Given the description of an element on the screen output the (x, y) to click on. 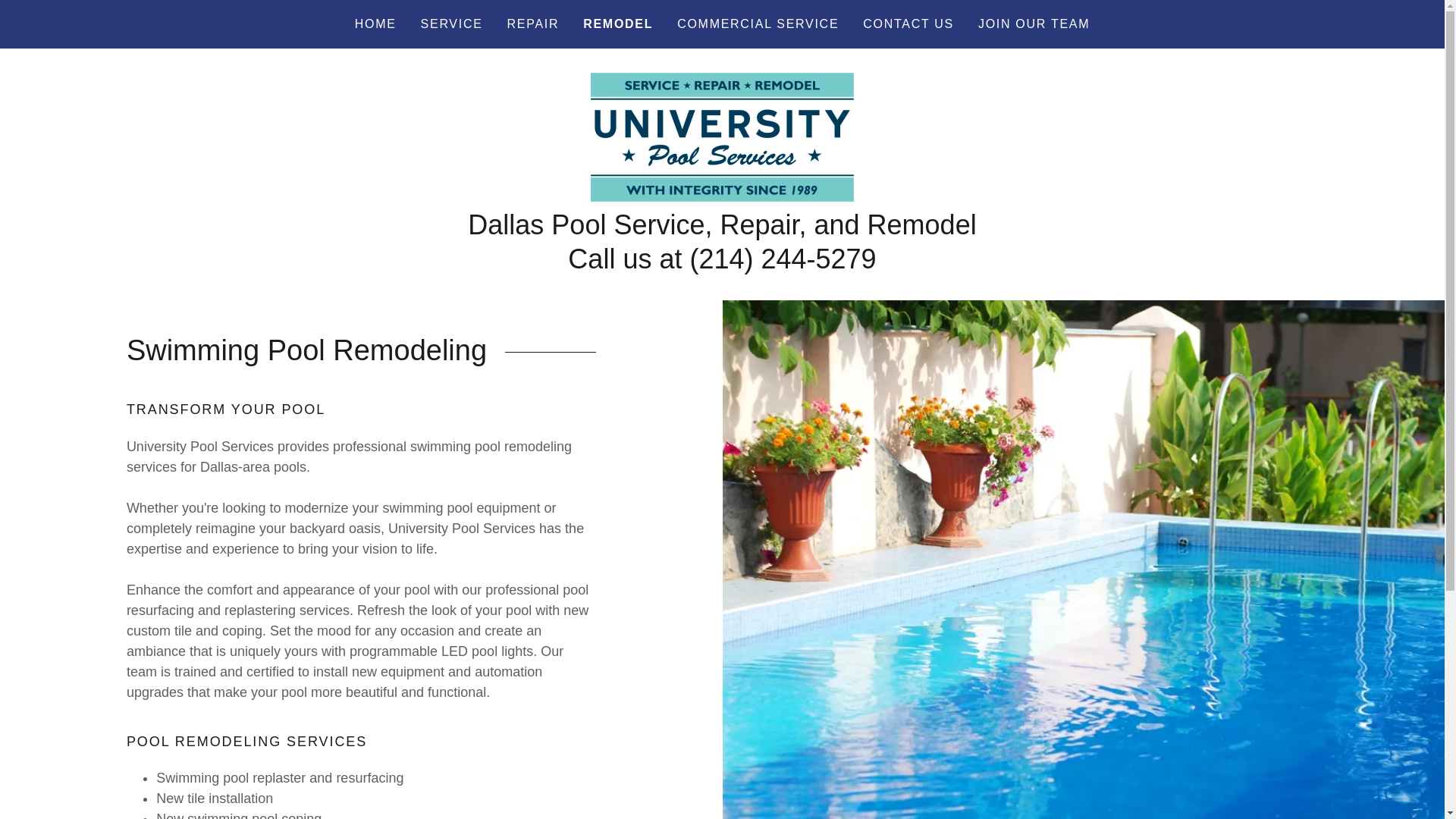
SERVICE (451, 23)
University Pools (722, 136)
REPAIR (533, 23)
HOME (375, 23)
JOIN OUR TEAM (1034, 23)
REMODEL (617, 24)
COMMERCIAL SERVICE (757, 23)
CONTACT US (908, 23)
